Given the description of an element on the screen output the (x, y) to click on. 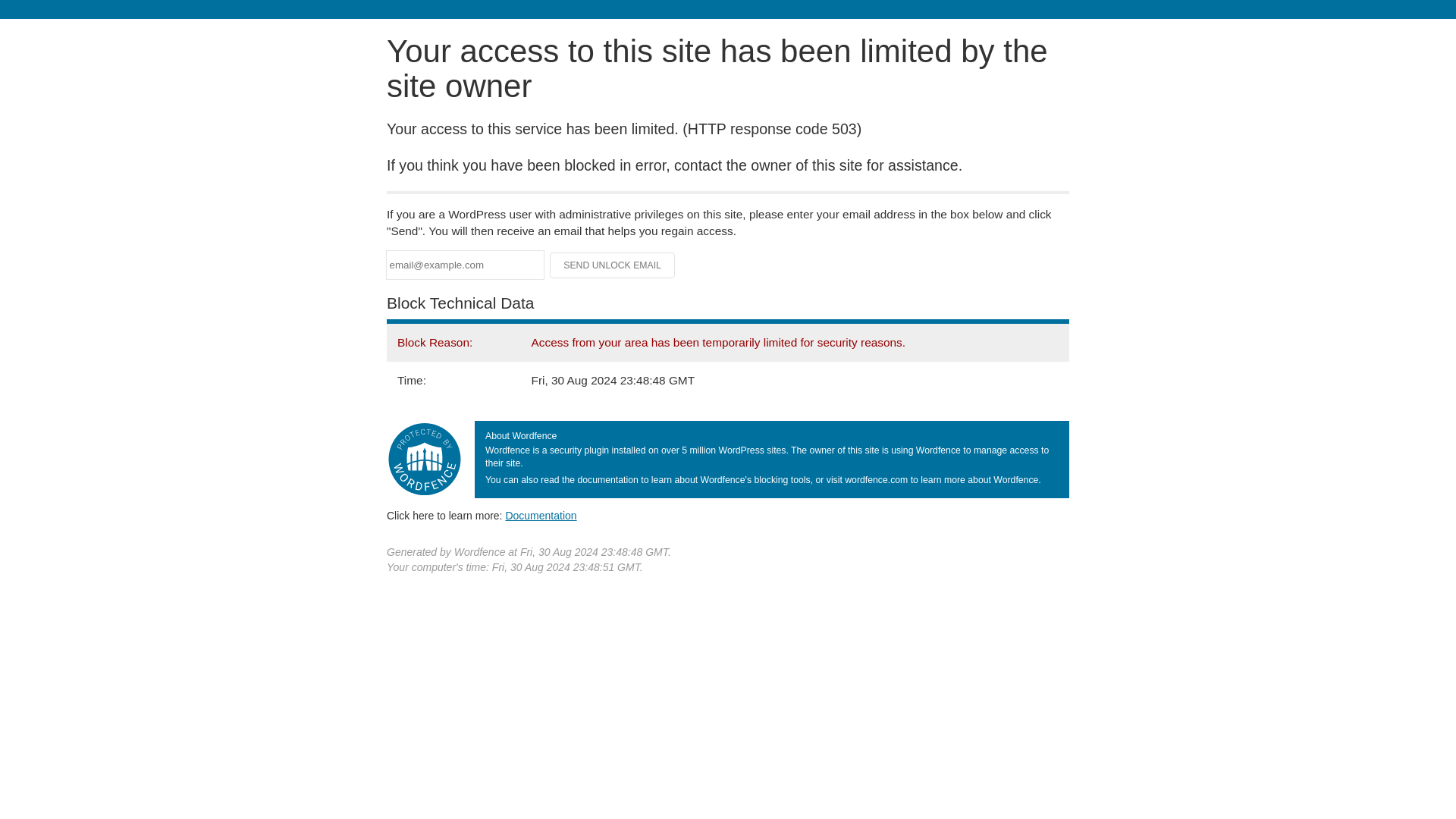
Send Unlock Email (612, 265)
Documentation (540, 515)
Send Unlock Email (612, 265)
